Given the description of an element on the screen output the (x, y) to click on. 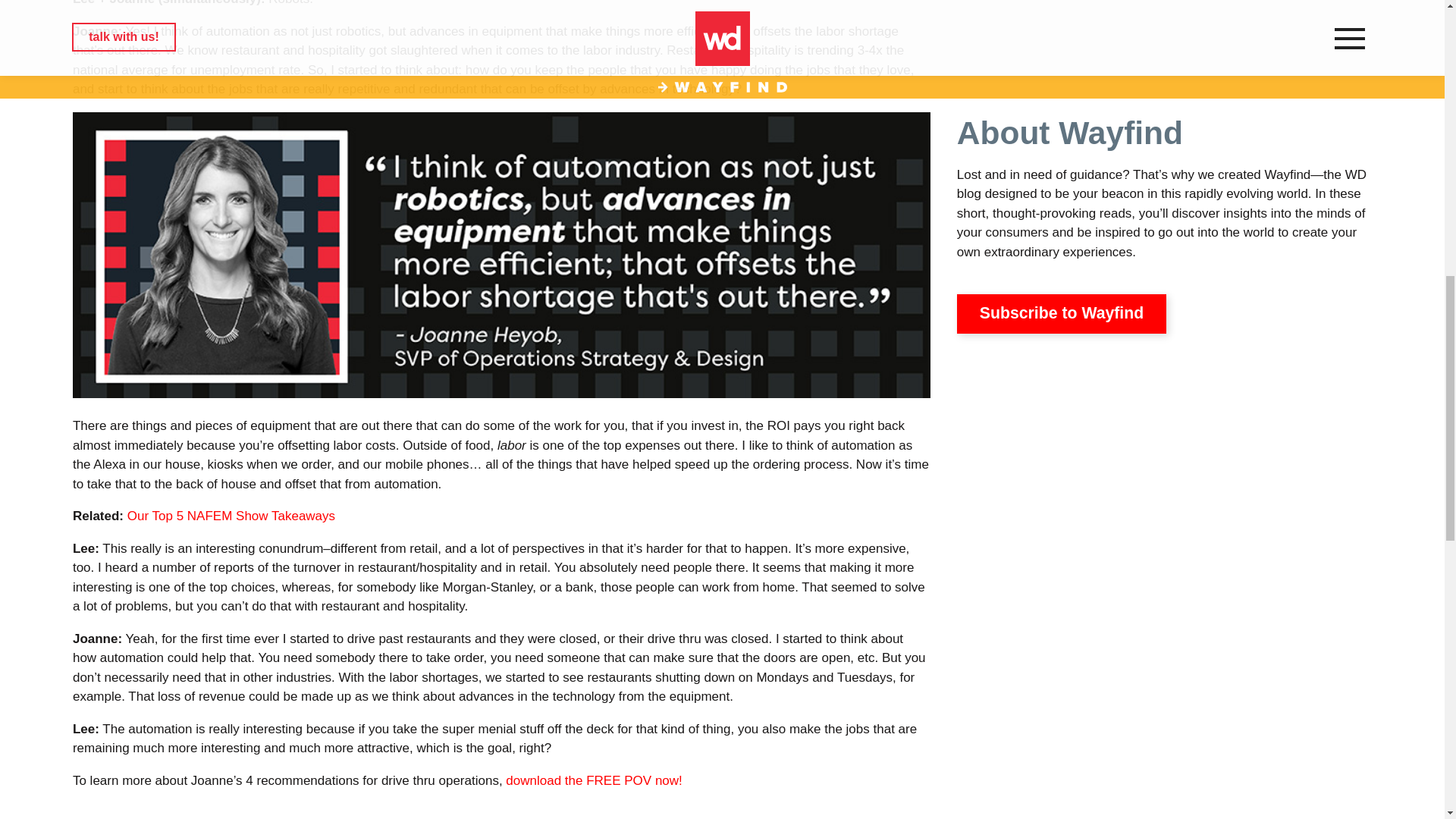
Back to Wayfind (721, 817)
Our Top 5 NAFEM Show Takeaways (231, 515)
Drive-Thru Break-Through (593, 780)
download the FREE POV now! (593, 780)
Our Top 5 NAFEM Show Takeaways (231, 515)
